Given the description of an element on the screen output the (x, y) to click on. 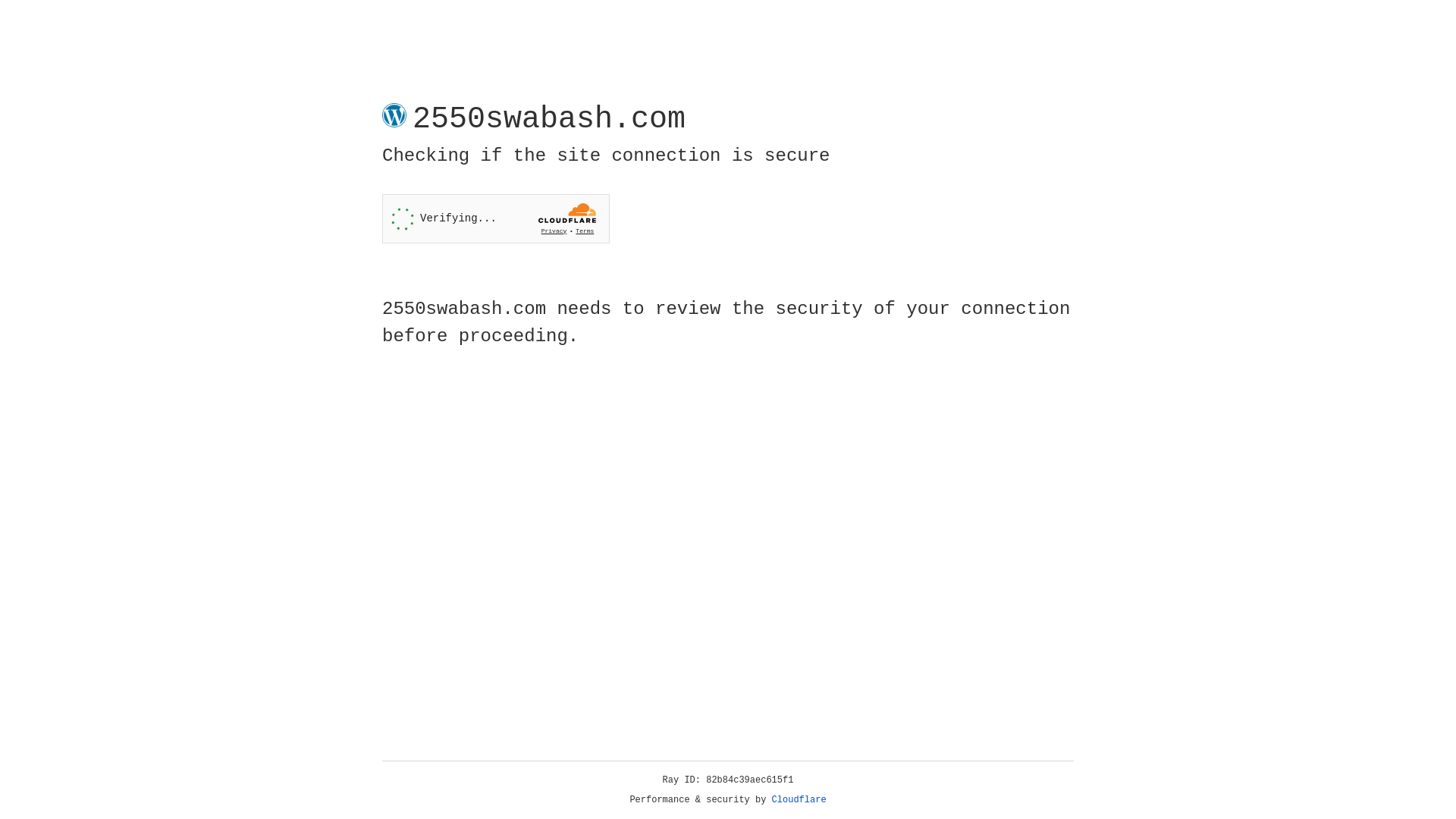
Widget containing a Cloudflare security challenge Element type: hover (495, 218)
Cloudflare Element type: text (798, 799)
